Given the description of an element on the screen output the (x, y) to click on. 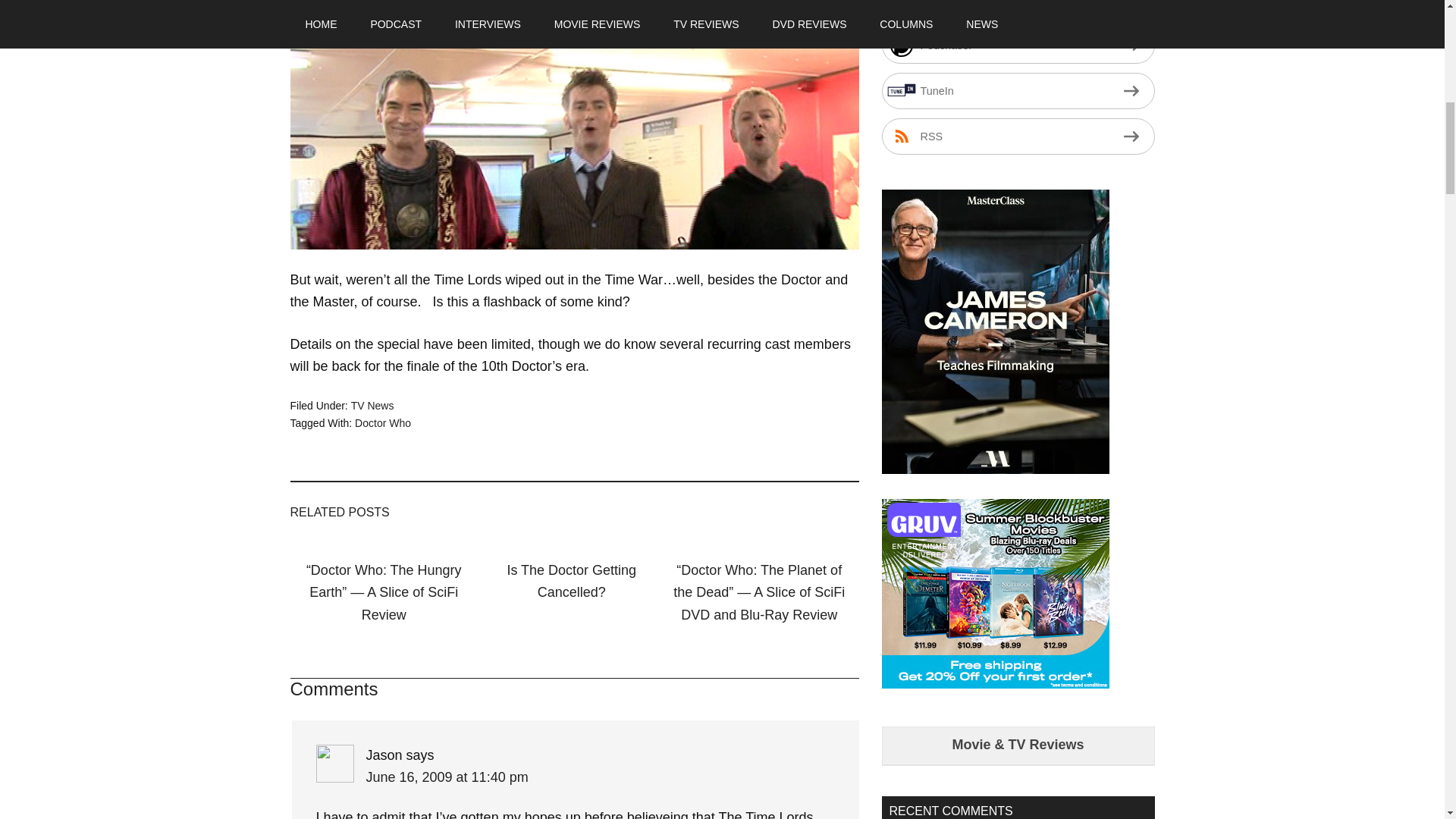
Is The Doctor Getting Cancelled? (571, 580)
Subscribe on TuneIn (1017, 90)
June 16, 2009 at 11:40 pm (446, 776)
Subscribe on Podchaser (1017, 45)
Doctor Who (382, 422)
TV News (372, 405)
Subscribe via RSS (1017, 135)
Subscribe on iHeartRadio (1017, 9)
